Given the description of an element on the screen output the (x, y) to click on. 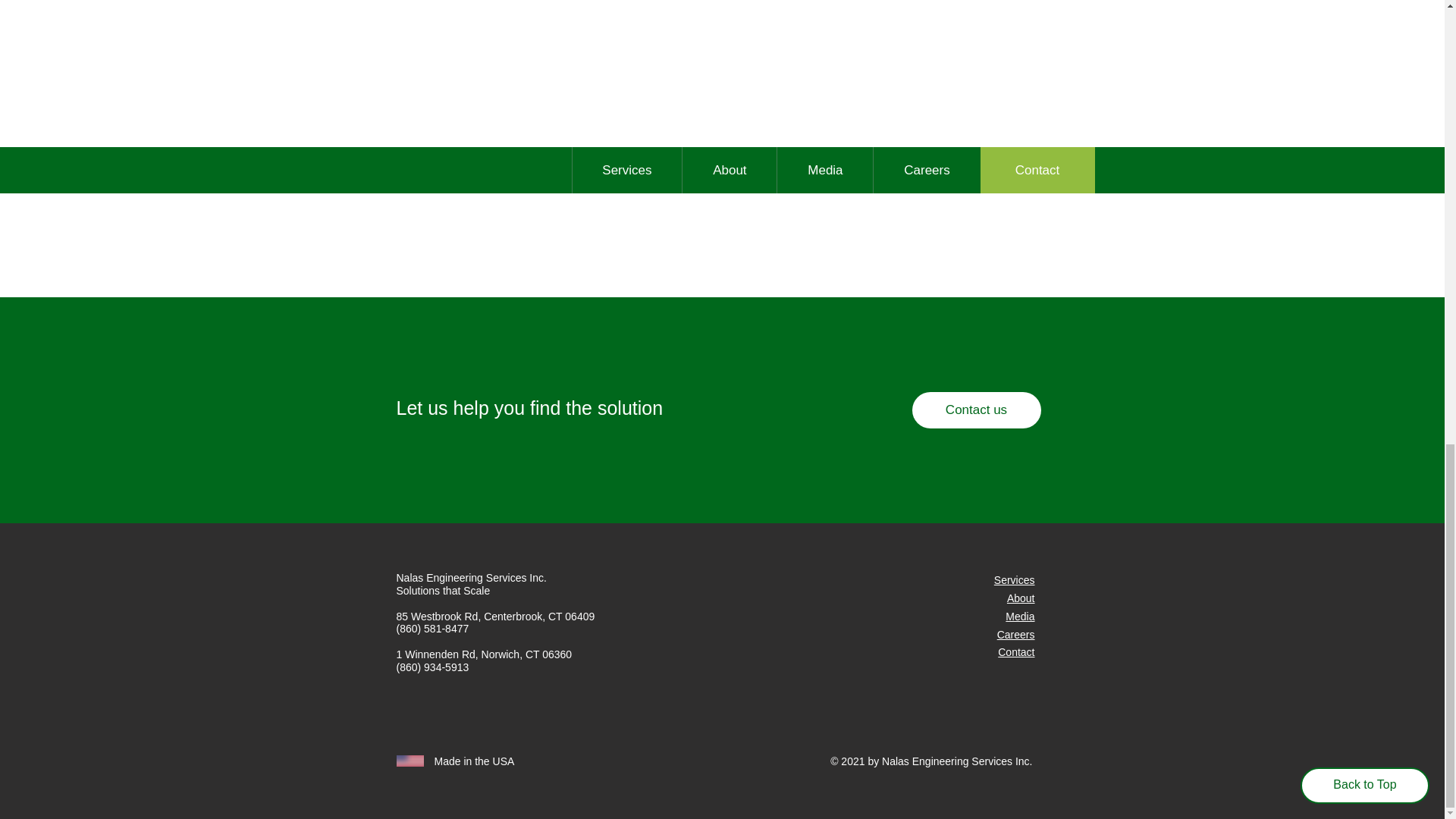
Contact us (976, 410)
Services (1014, 580)
Contact (1015, 652)
Publications (936, 137)
Careers (1016, 634)
Media (1019, 616)
About (1021, 598)
